Given the description of an element on the screen output the (x, y) to click on. 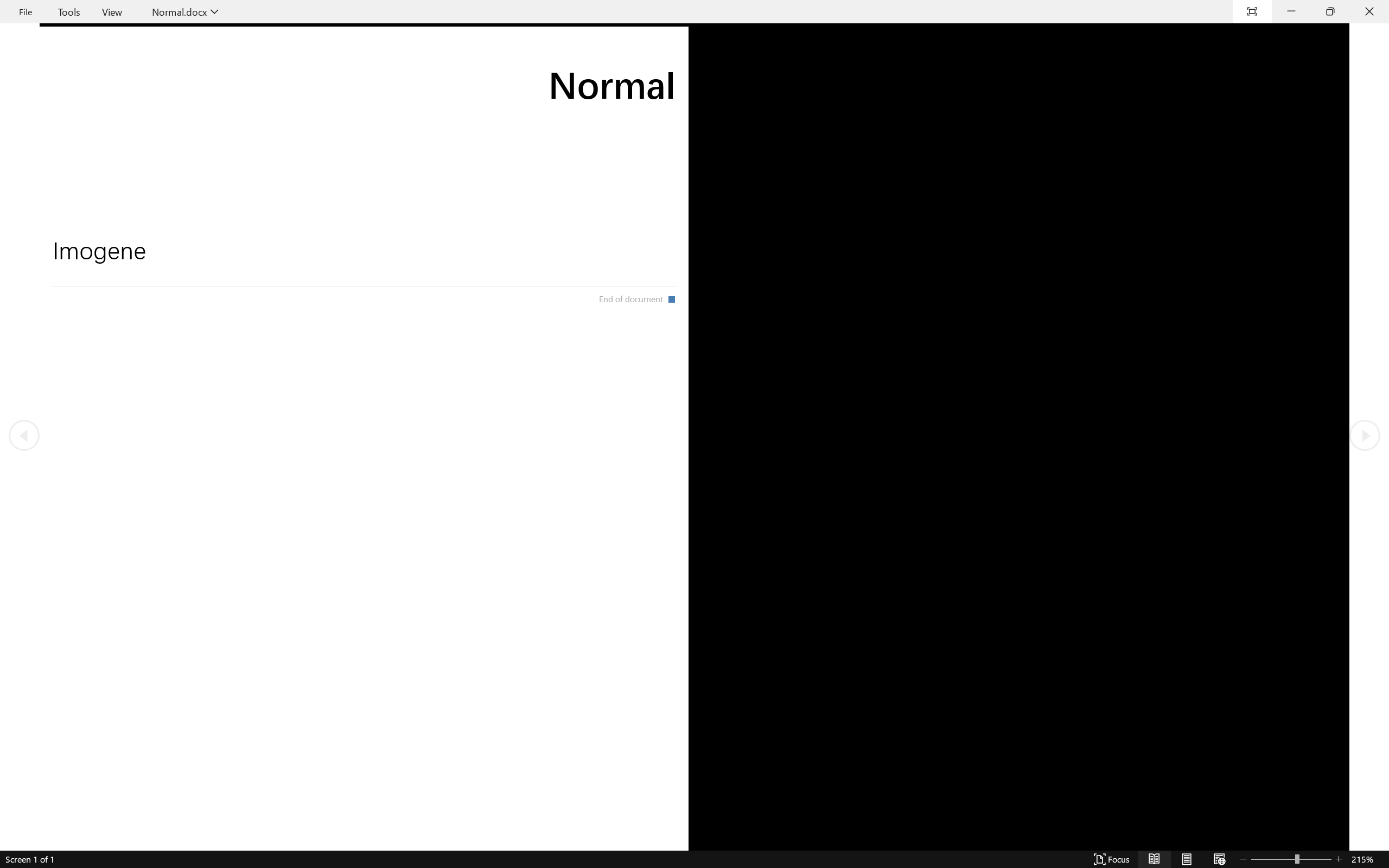
Class: NetUIScrollBar (694, 860)
Class: Net UI Tool Window Layered (694, 11)
